Given the description of an element on the screen output the (x, y) to click on. 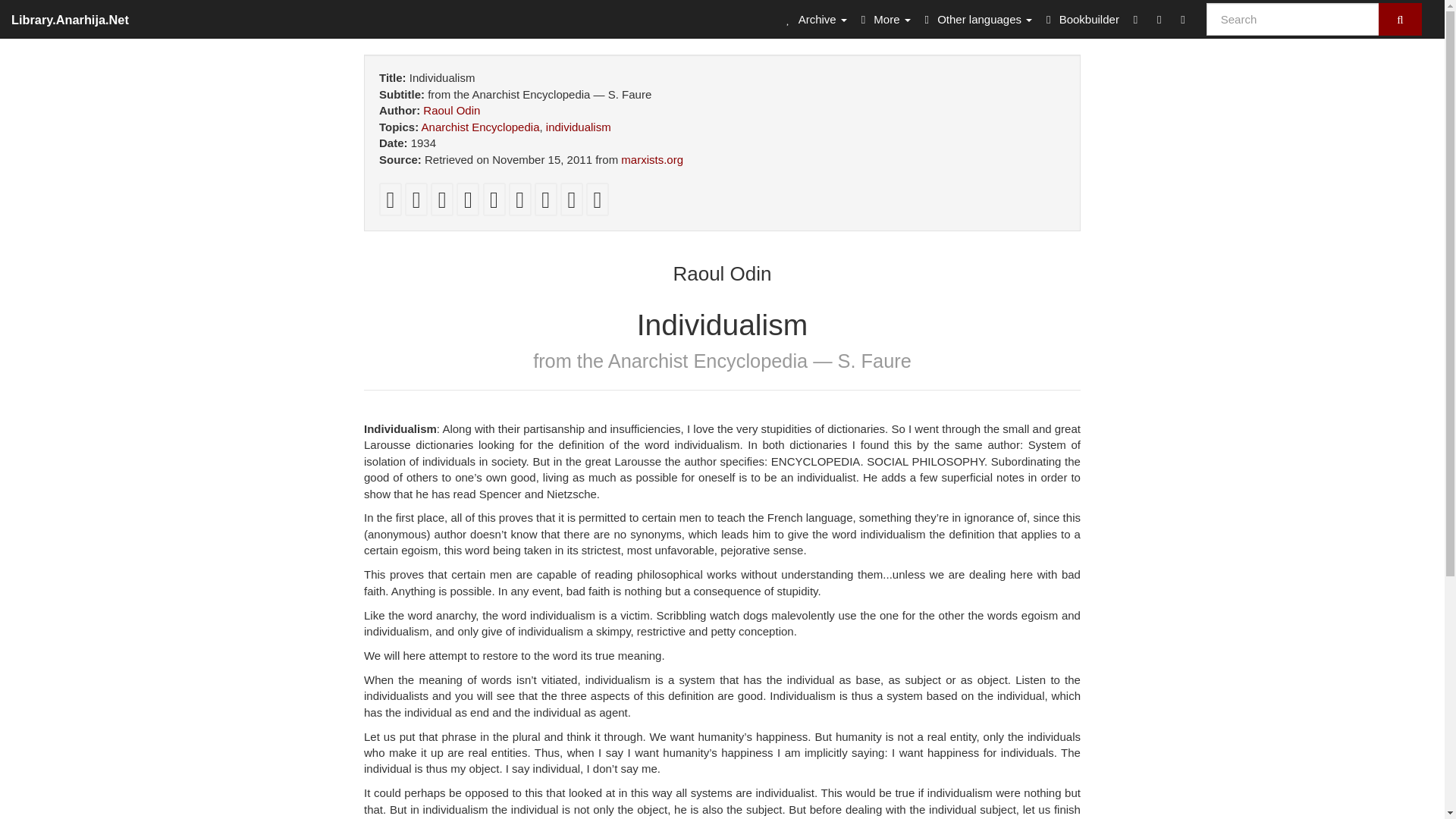
More (883, 18)
about, links... (883, 18)
marxists.org (651, 159)
Library.Anarhija.Net (69, 18)
Library.Anarhija.Net (69, 18)
Booklet (416, 203)
Search (1400, 19)
Plain PDF (389, 203)
Bookbuilder (1080, 18)
Other languages (975, 18)
Anarchist Encyclopedia (481, 126)
Bookbuilder (1080, 18)
Other languages (975, 18)
texts by authors, title, topic... (813, 18)
individualism (578, 126)
